Given the description of an element on the screen output the (x, y) to click on. 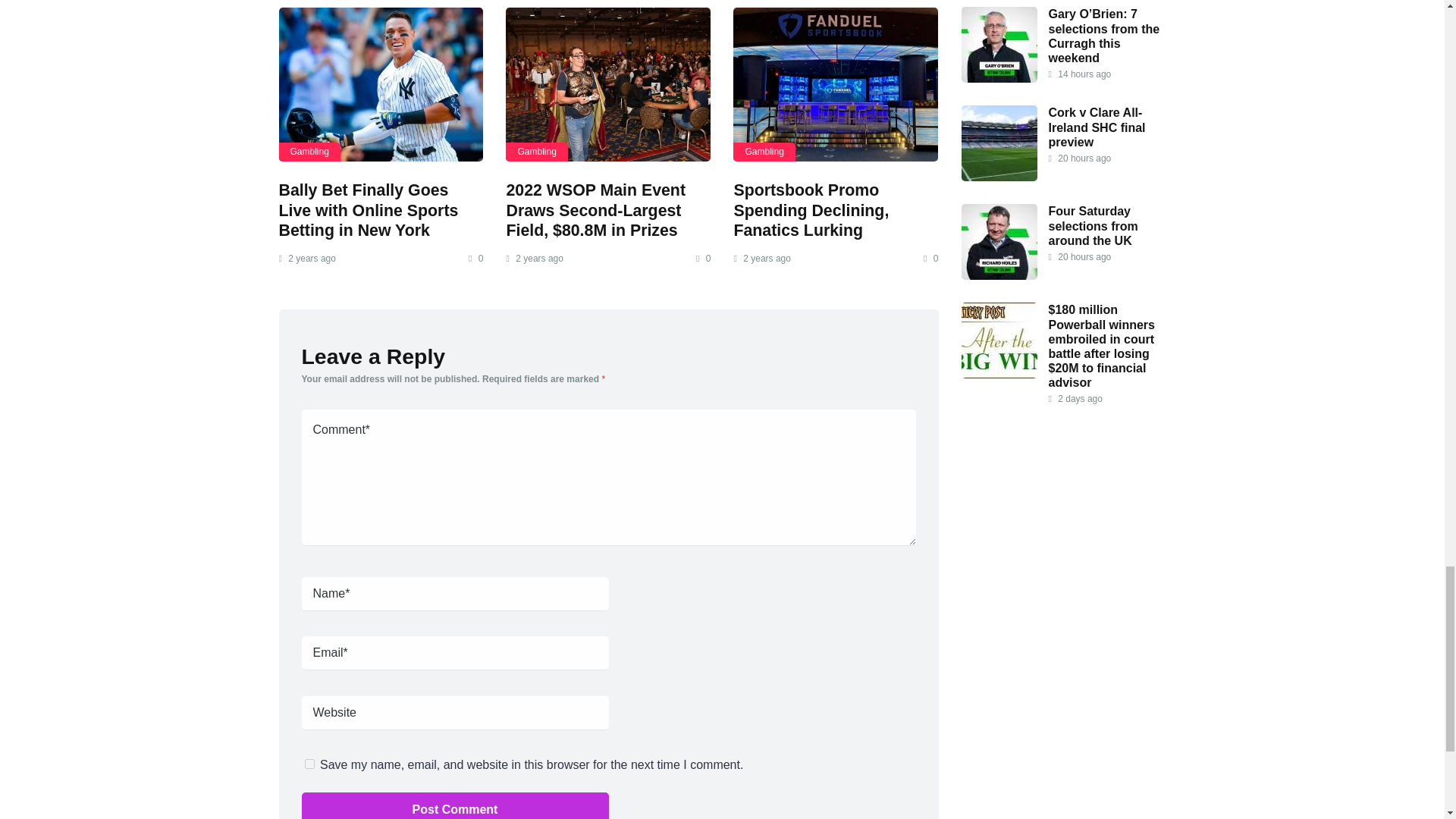
Sportsbook Promo Spending Declining, Fanatics Lurking (810, 209)
Gambling (763, 151)
yes (309, 764)
Gambling (536, 151)
Post Comment (454, 805)
Sportsbook Promo Spending Declining, Fanatics Lurking (835, 84)
Post Comment (454, 805)
Sportsbook Promo Spending Declining, Fanatics Lurking (810, 209)
Gambling (309, 151)
